Given the description of an element on the screen output the (x, y) to click on. 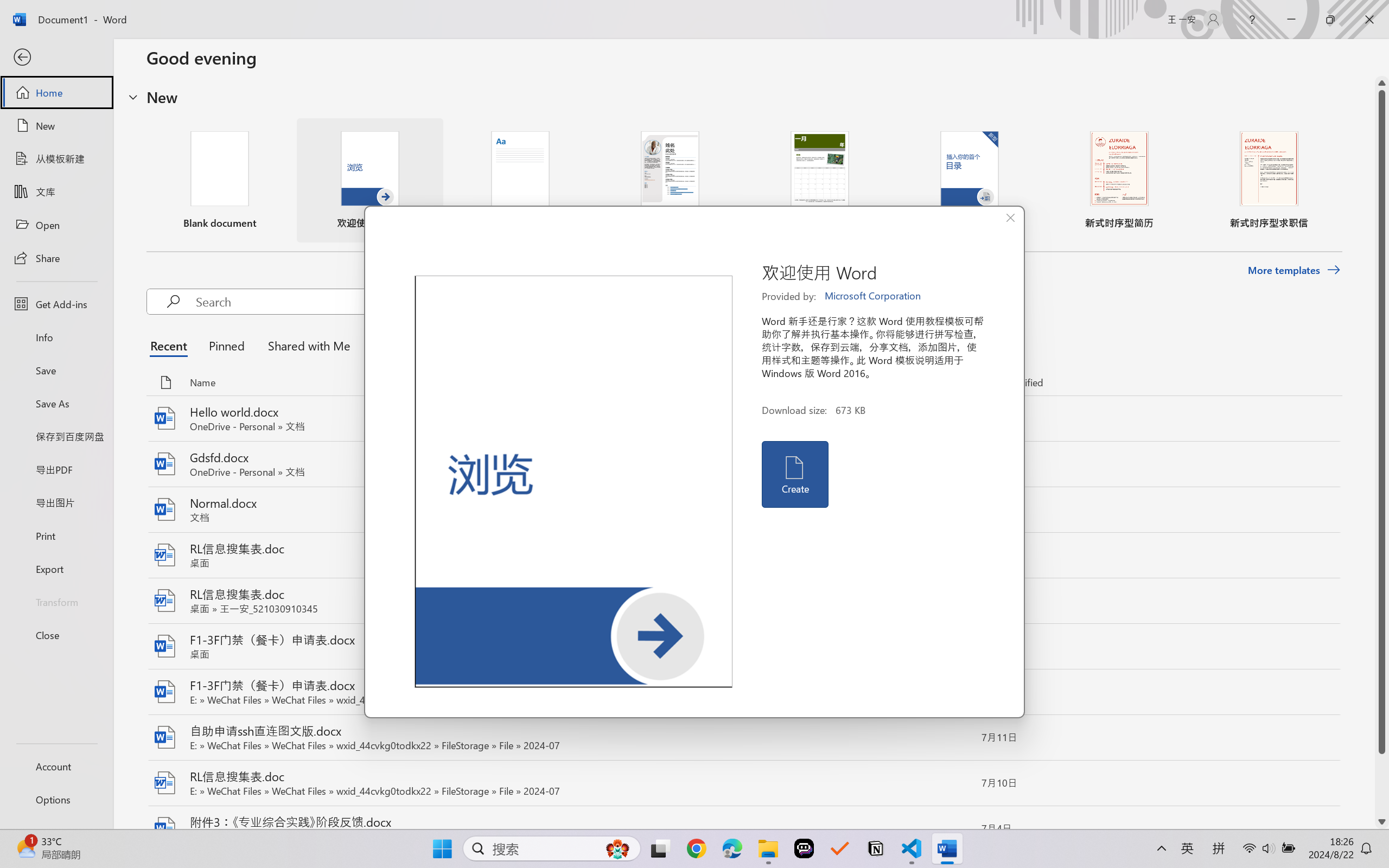
Hello world.docx (743, 418)
Save As (56, 403)
Info (56, 337)
Line down (1382, 821)
More templates (1293, 270)
Get Add-ins (56, 303)
Search (360, 301)
